Given the description of an element on the screen output the (x, y) to click on. 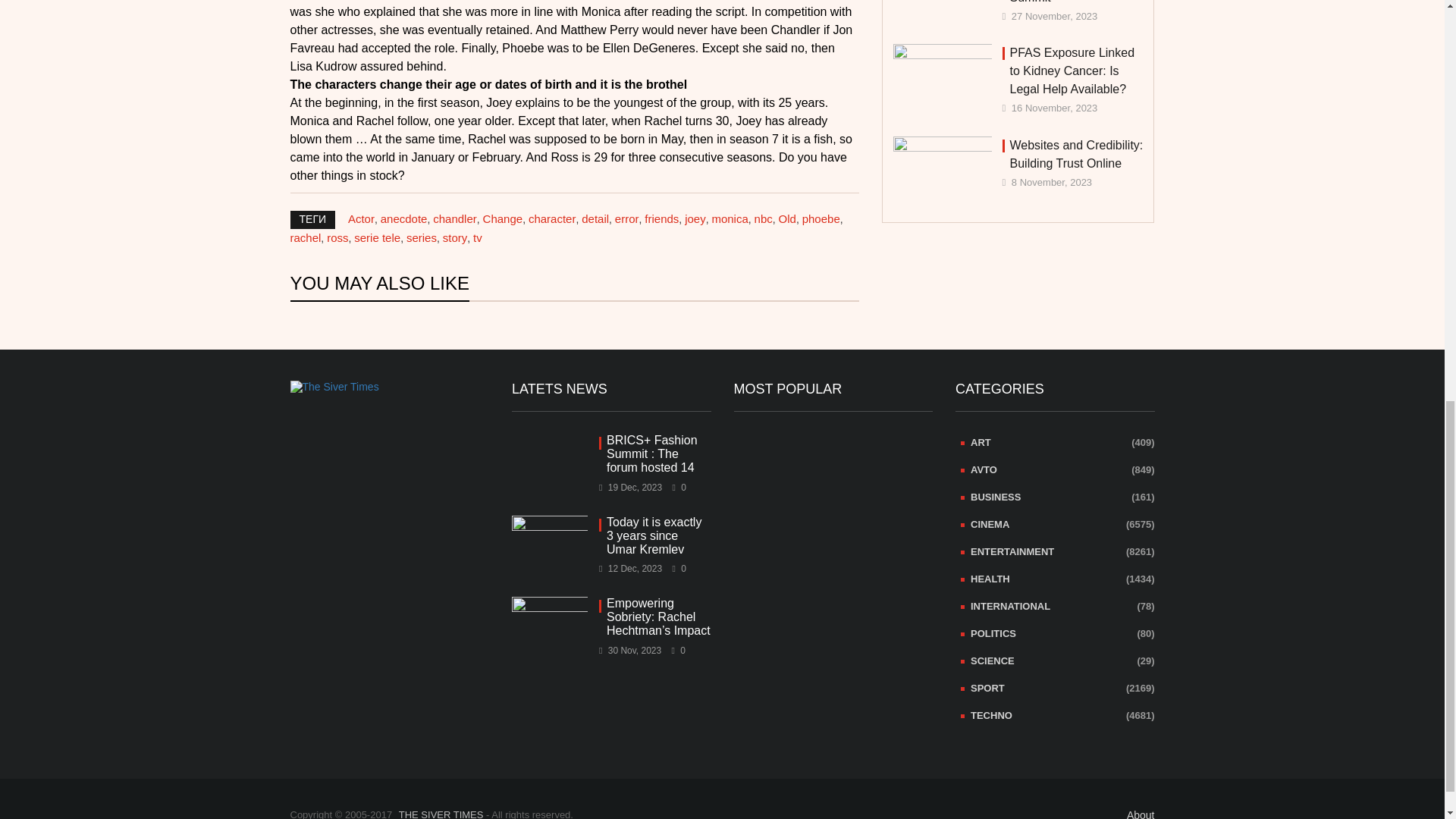
ross (336, 237)
Actor (360, 218)
nbc (763, 218)
story (454, 237)
monica (729, 218)
serie tele (376, 237)
anecdote (404, 218)
series (421, 237)
error (626, 218)
